Given the description of an element on the screen output the (x, y) to click on. 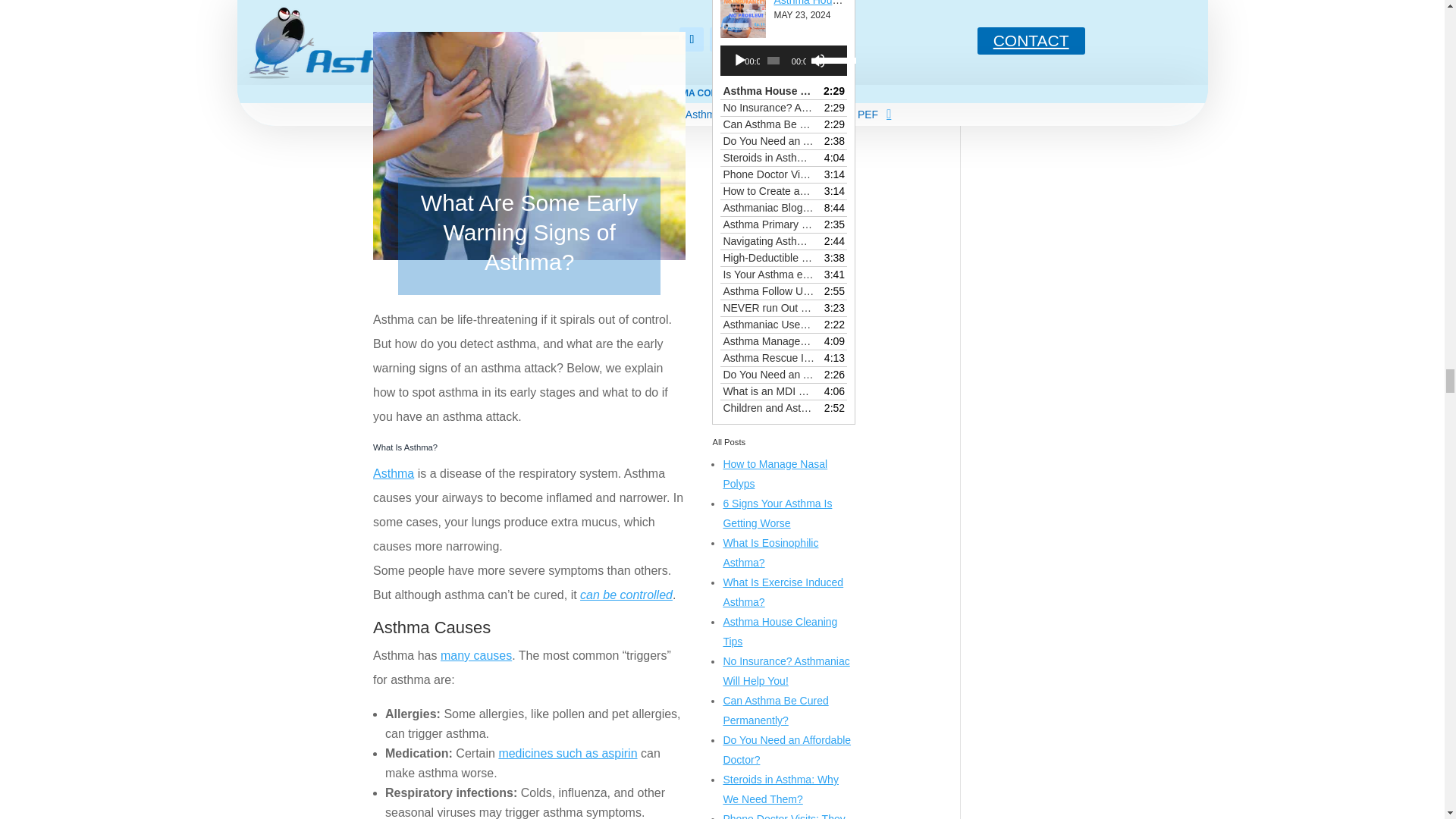
Mute (817, 60)
Play (740, 60)
